Given the description of an element on the screen output the (x, y) to click on. 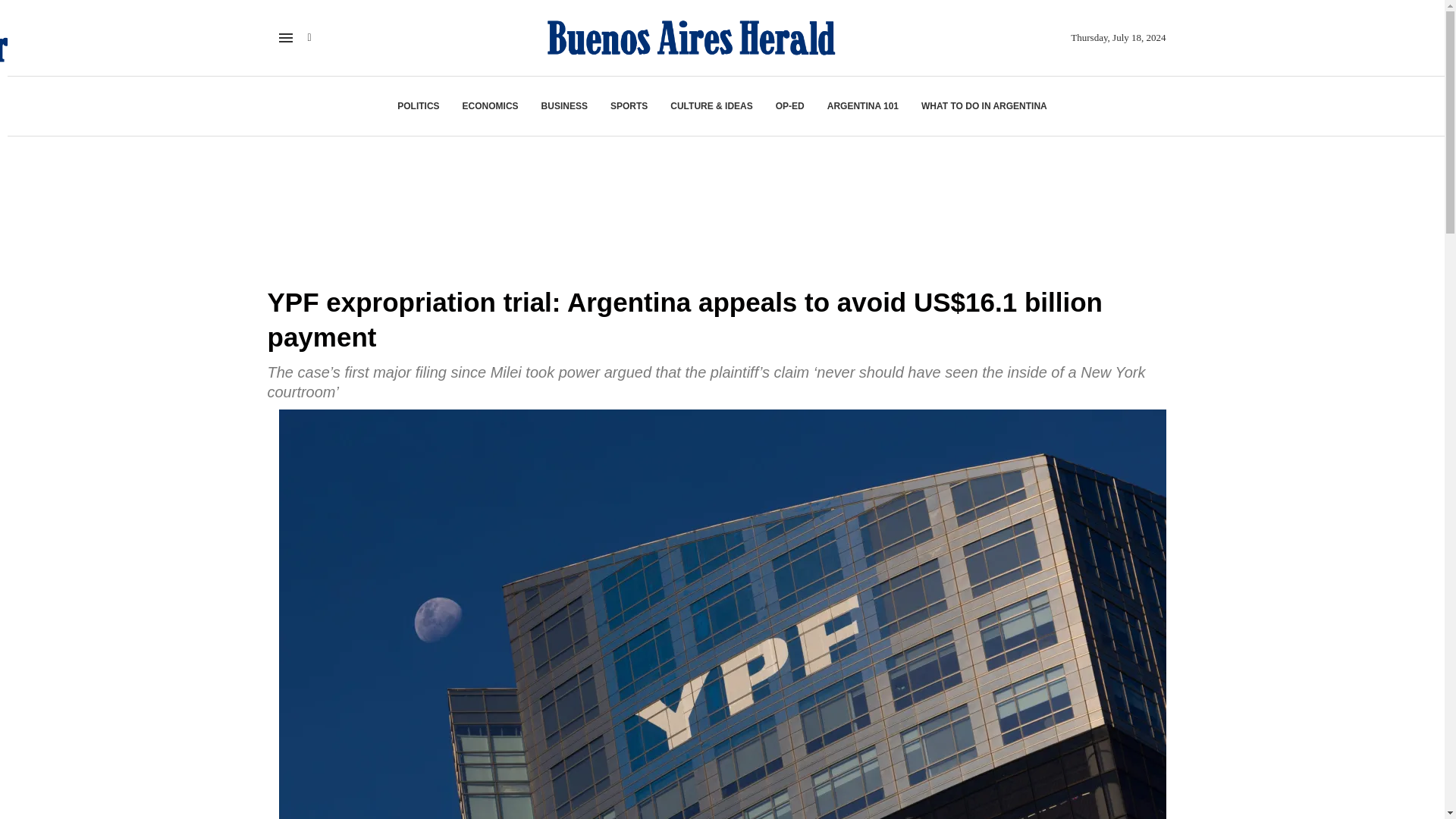
BUSINESS (564, 105)
ARGENTINA 101 (862, 105)
ECONOMICS (490, 105)
WHAT TO DO IN ARGENTINA (983, 105)
POLITICS (418, 105)
